Given the description of an element on the screen output the (x, y) to click on. 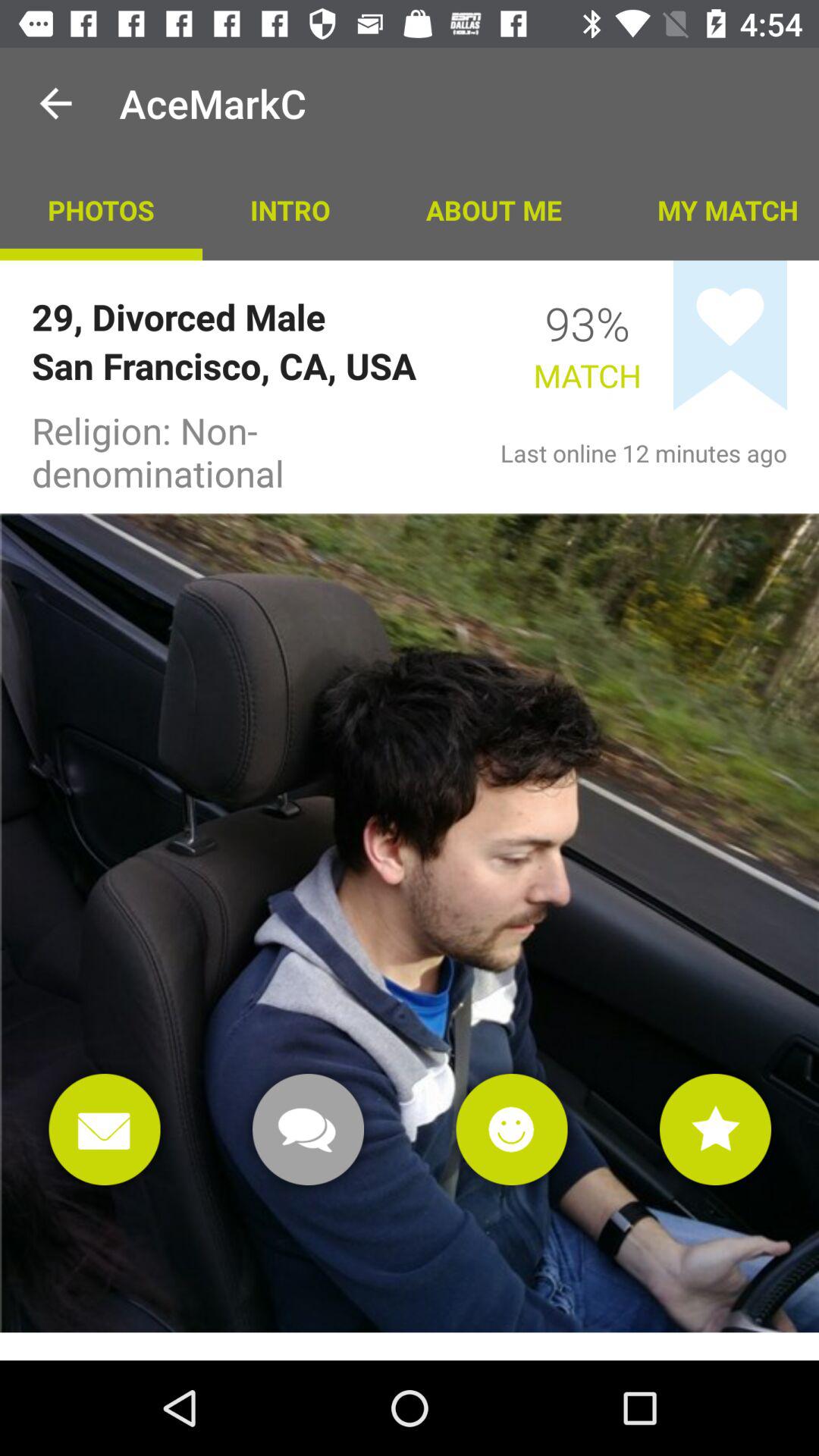
tap item to the left of the about me app (290, 209)
